Given the description of an element on the screen output the (x, y) to click on. 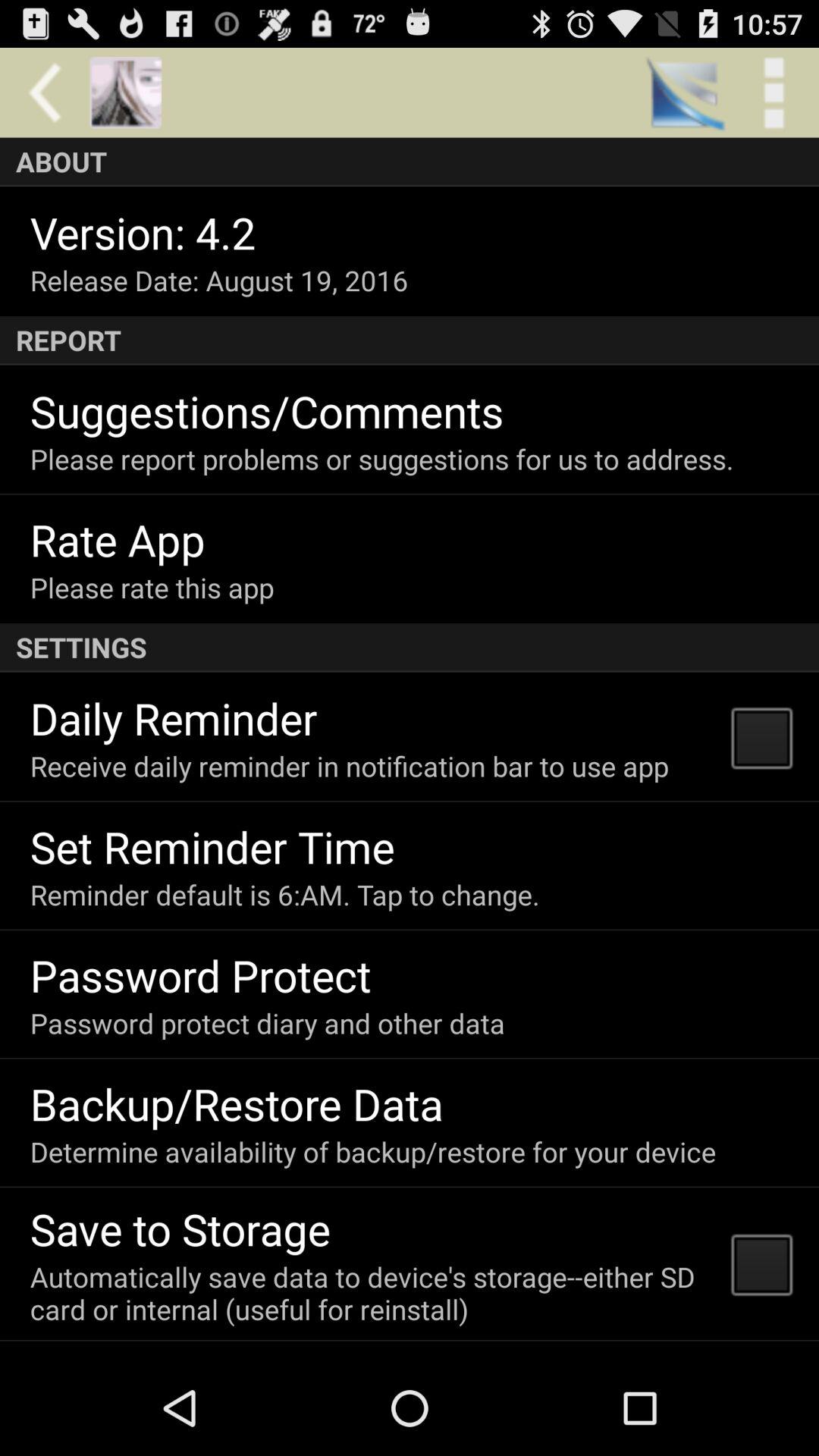
swipe until automatically save data icon (370, 1293)
